Given the description of an element on the screen output the (x, y) to click on. 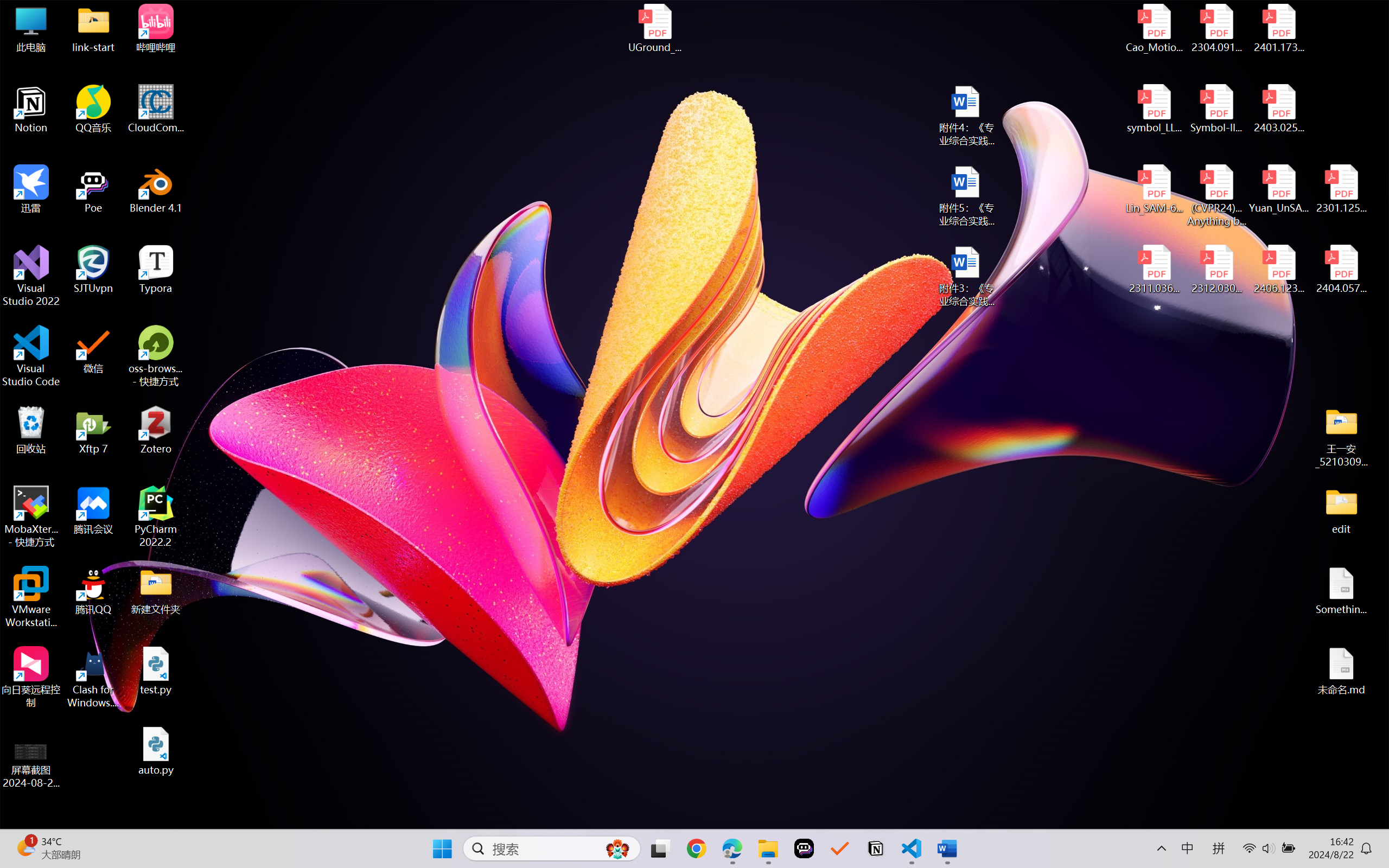
Google Chrome (696, 848)
Typora (156, 269)
2403.02502v1.pdf (1278, 109)
2404.05719v1.pdf (1340, 269)
